Given the description of an element on the screen output the (x, y) to click on. 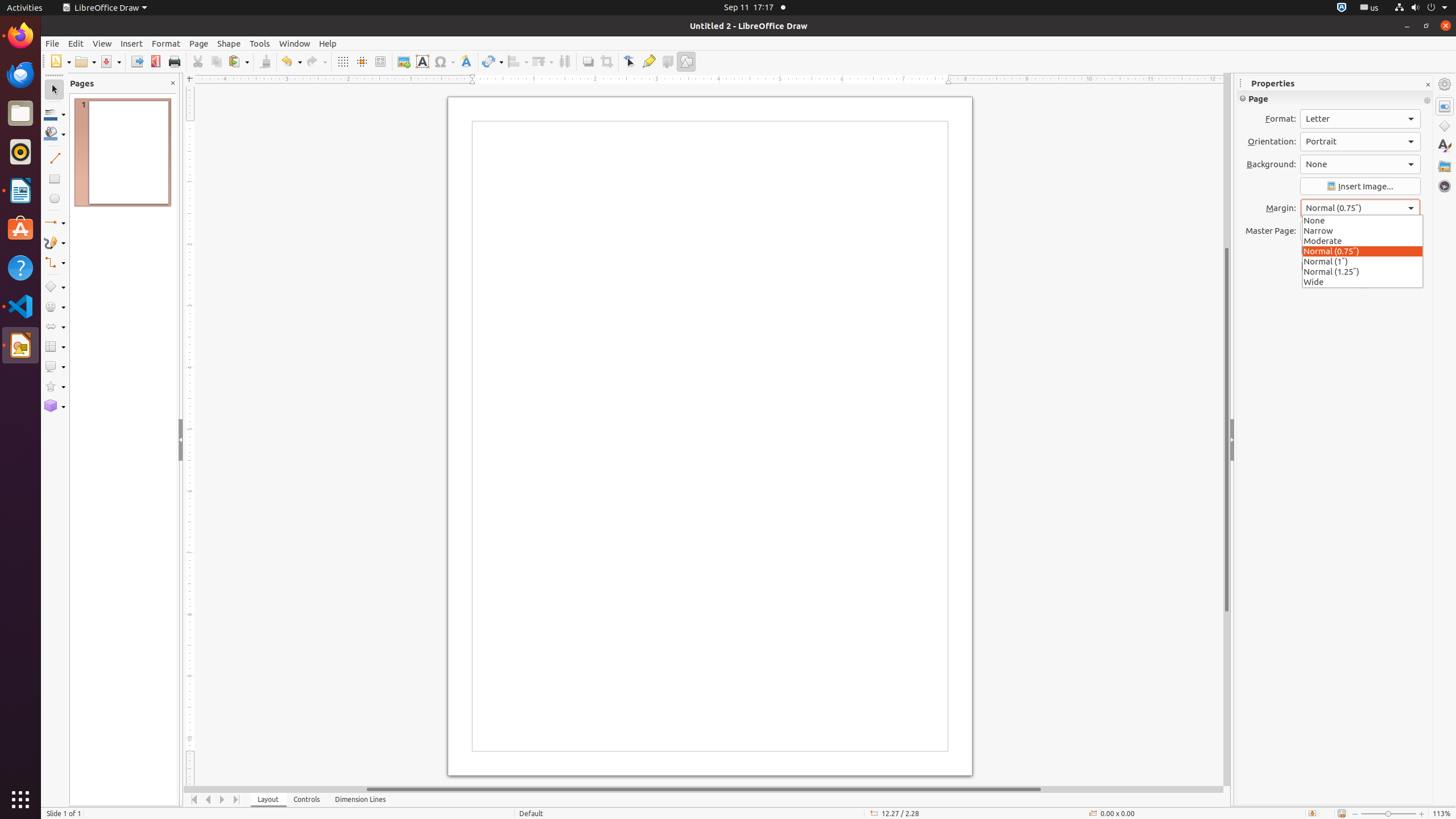
Visual Studio Code Element type: push-button (20, 306)
Export Element type: push-button (136, 61)
Insert Element type: menu (131, 43)
Line Element type: push-button (53, 158)
Edit Element type: menu (75, 43)
